Given the description of an element on the screen output the (x, y) to click on. 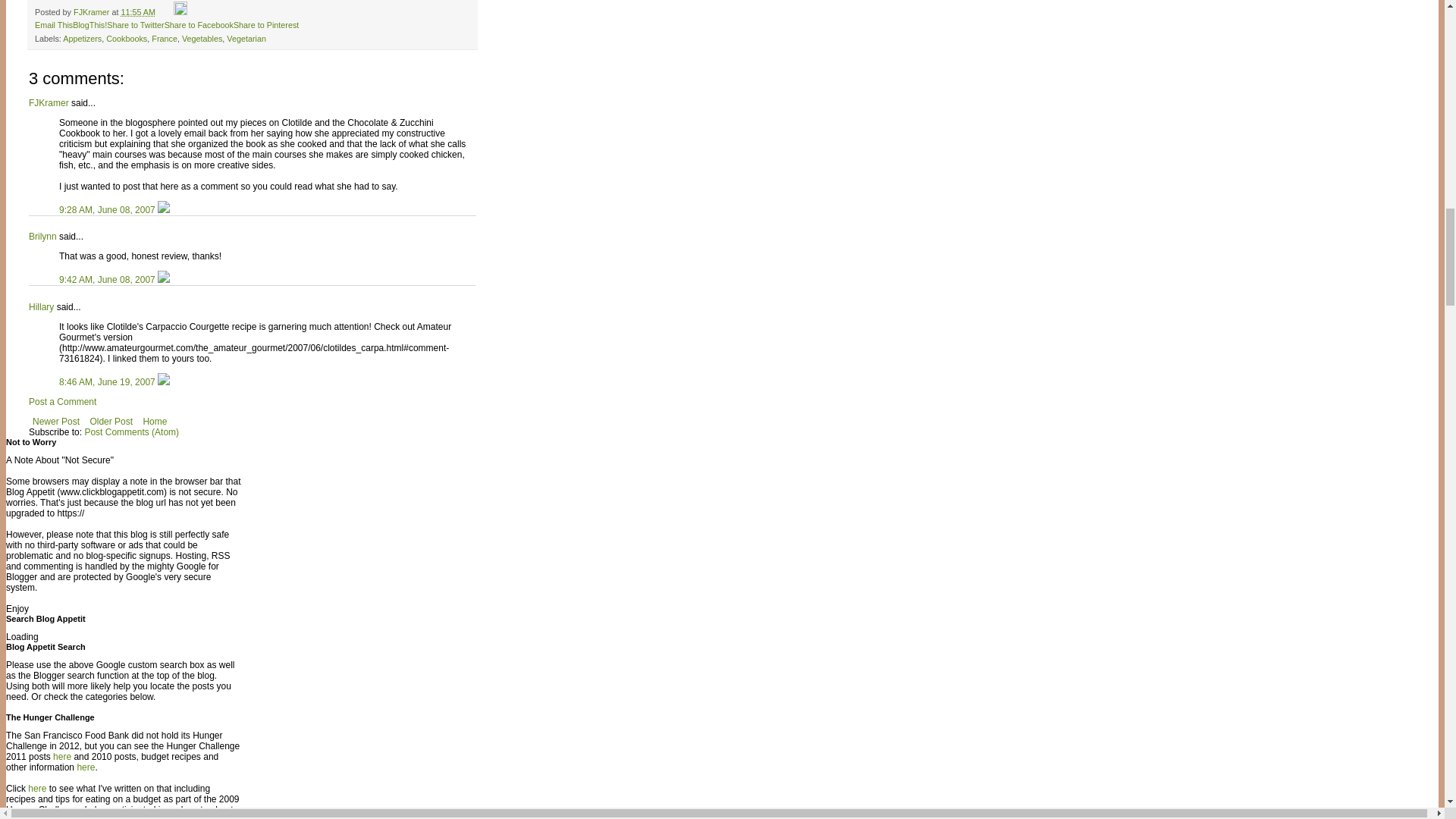
France (164, 38)
8:46 AM, June 19, 2007 (108, 381)
9:28 AM, June 08, 2007 (108, 209)
Share to Pinterest (265, 24)
Email Post (165, 11)
Hillary (41, 307)
9:42 AM, June 08, 2007 (108, 279)
Edit Post (180, 11)
Post a Comment (62, 401)
Vegetables (202, 38)
Vegetarian (246, 38)
FJKramer (93, 11)
Brilynn (42, 235)
comment permalink (108, 209)
Email This (53, 24)
